Given the description of an element on the screen output the (x, y) to click on. 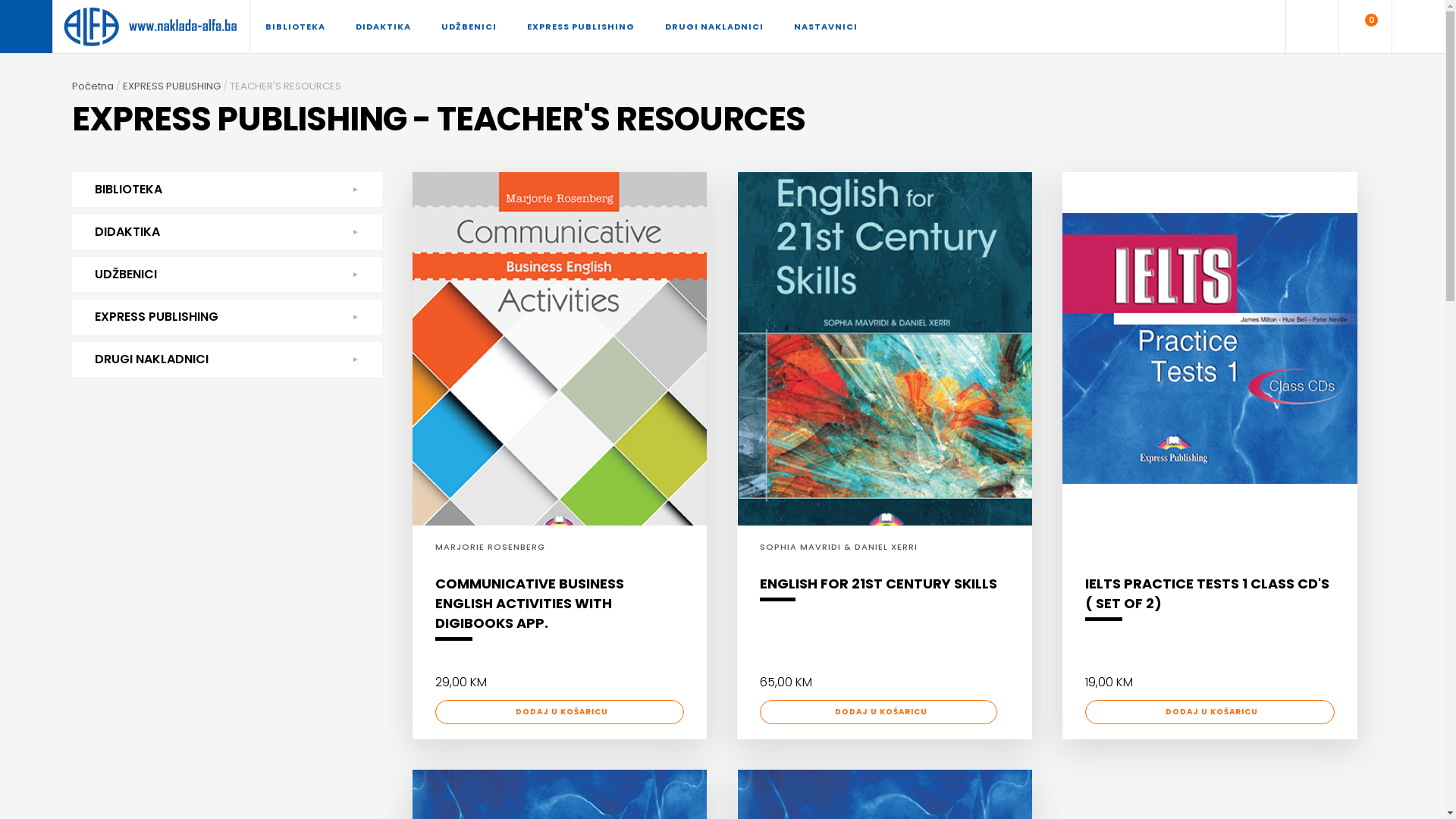
NASTAVNICI Element type: text (825, 26)
   Element type: text (26, 26)
DRUGI NAKLADNICI Element type: text (713, 26)
DIDAKTIKA Element type: text (383, 26)
EXPRESS PUBLISHING Element type: text (580, 26)
   Element type: text (1311, 26)
BIBLIOTEKA Element type: text (295, 26)
IELTS PRACTICE TESTS 1 CLASS CD'S ( SET OF 2) Element type: text (1209, 600)
EXPRESS PUBLISHING Element type: text (175, 85)
